Given the description of an element on the screen output the (x, y) to click on. 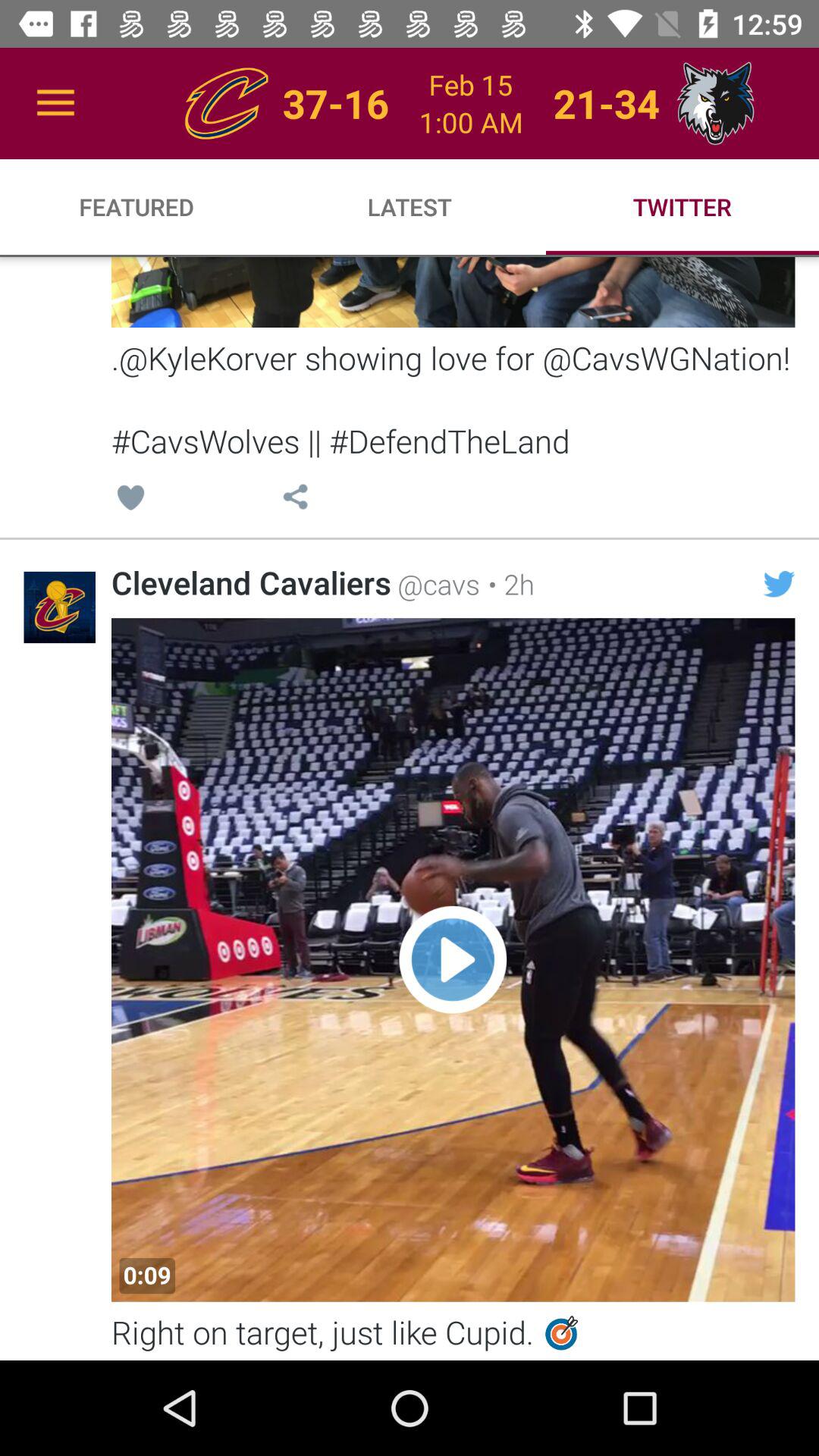
launch icon below the cleveland cavaliers icon (147, 1275)
